Given the description of an element on the screen output the (x, y) to click on. 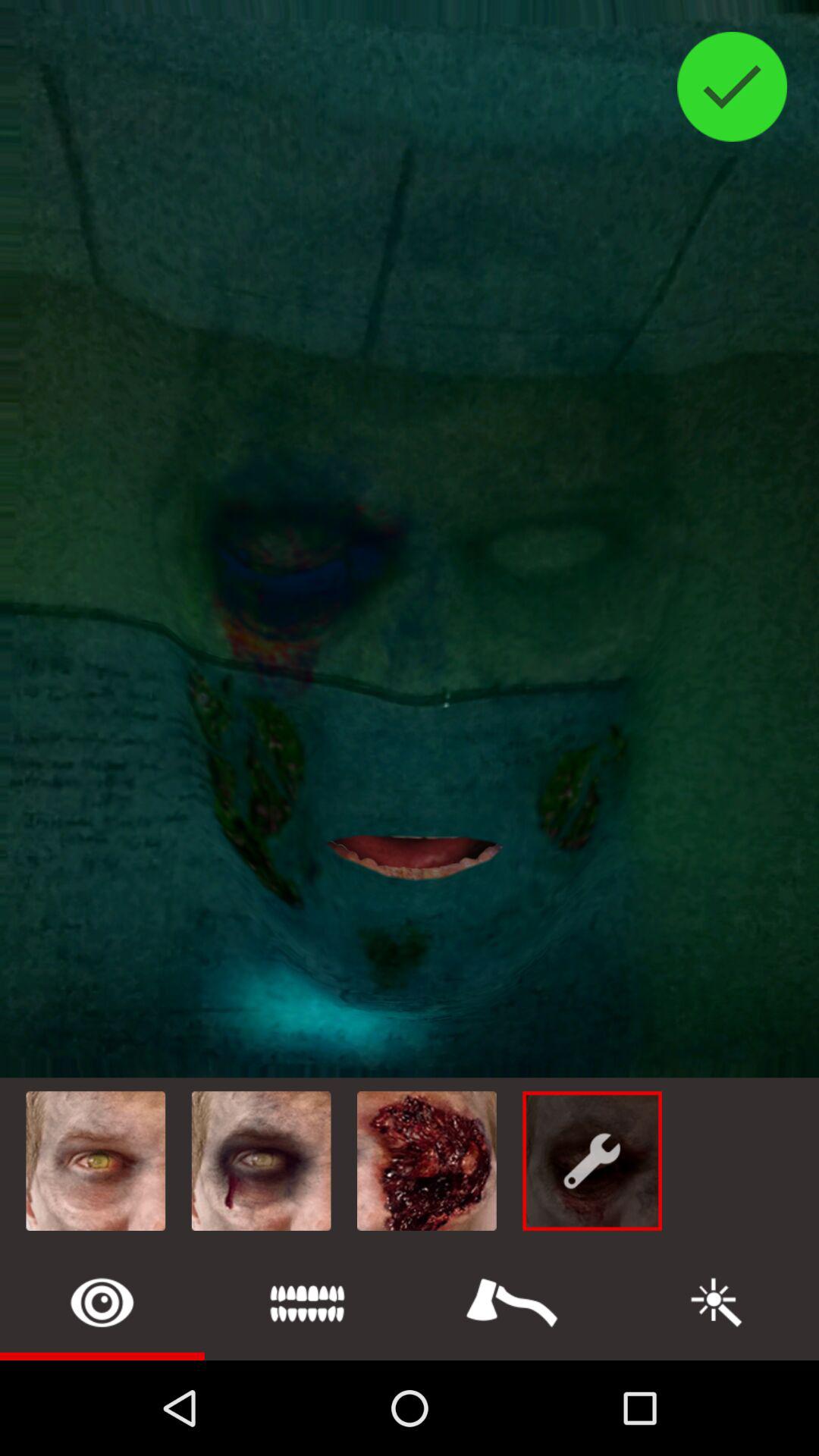
select mouth (306, 1302)
